Given the description of an element on the screen output the (x, y) to click on. 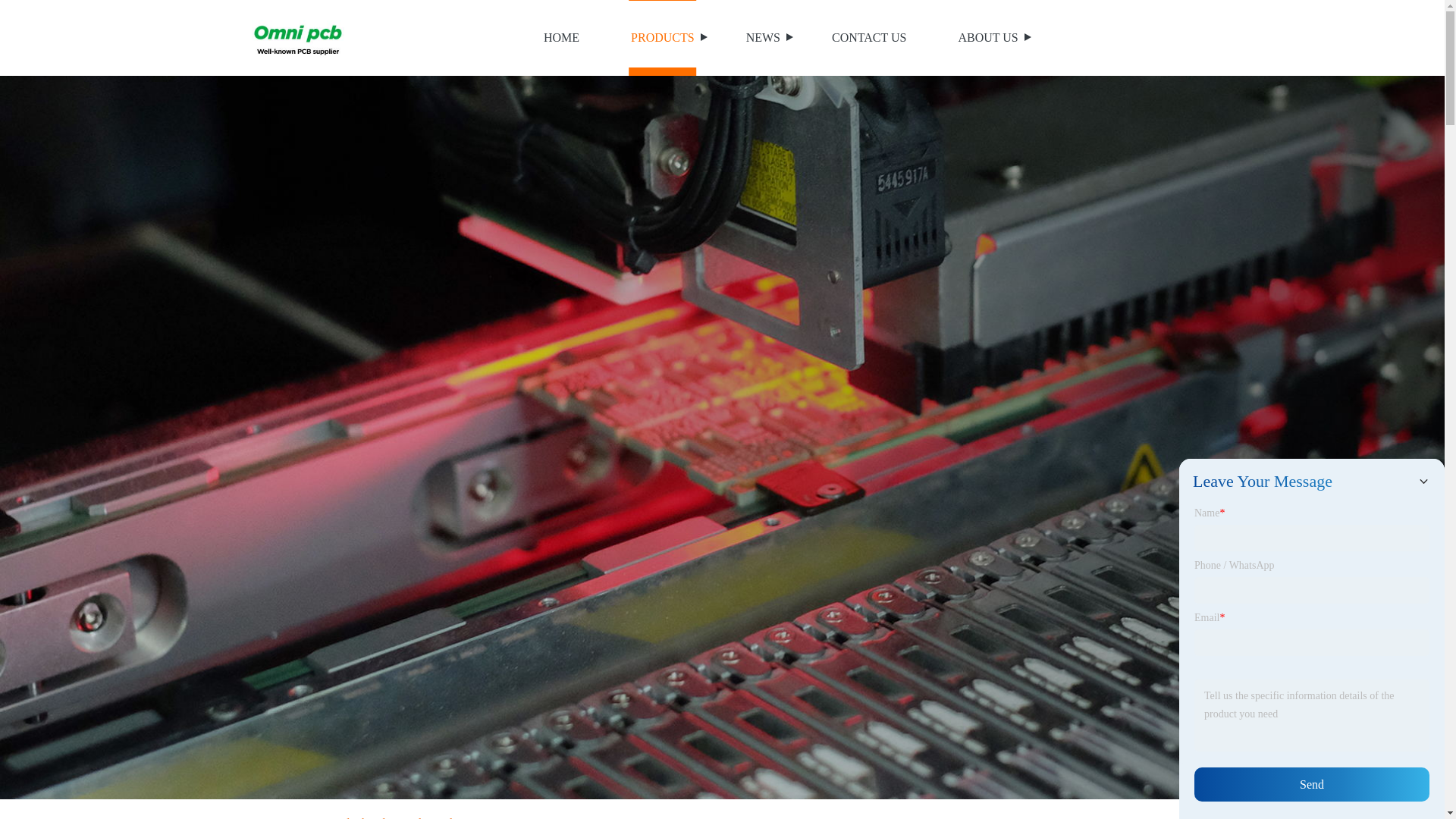
PRODUCTS (662, 38)
CONTACT US (868, 38)
Home (296, 817)
